Given the description of an element on the screen output the (x, y) to click on. 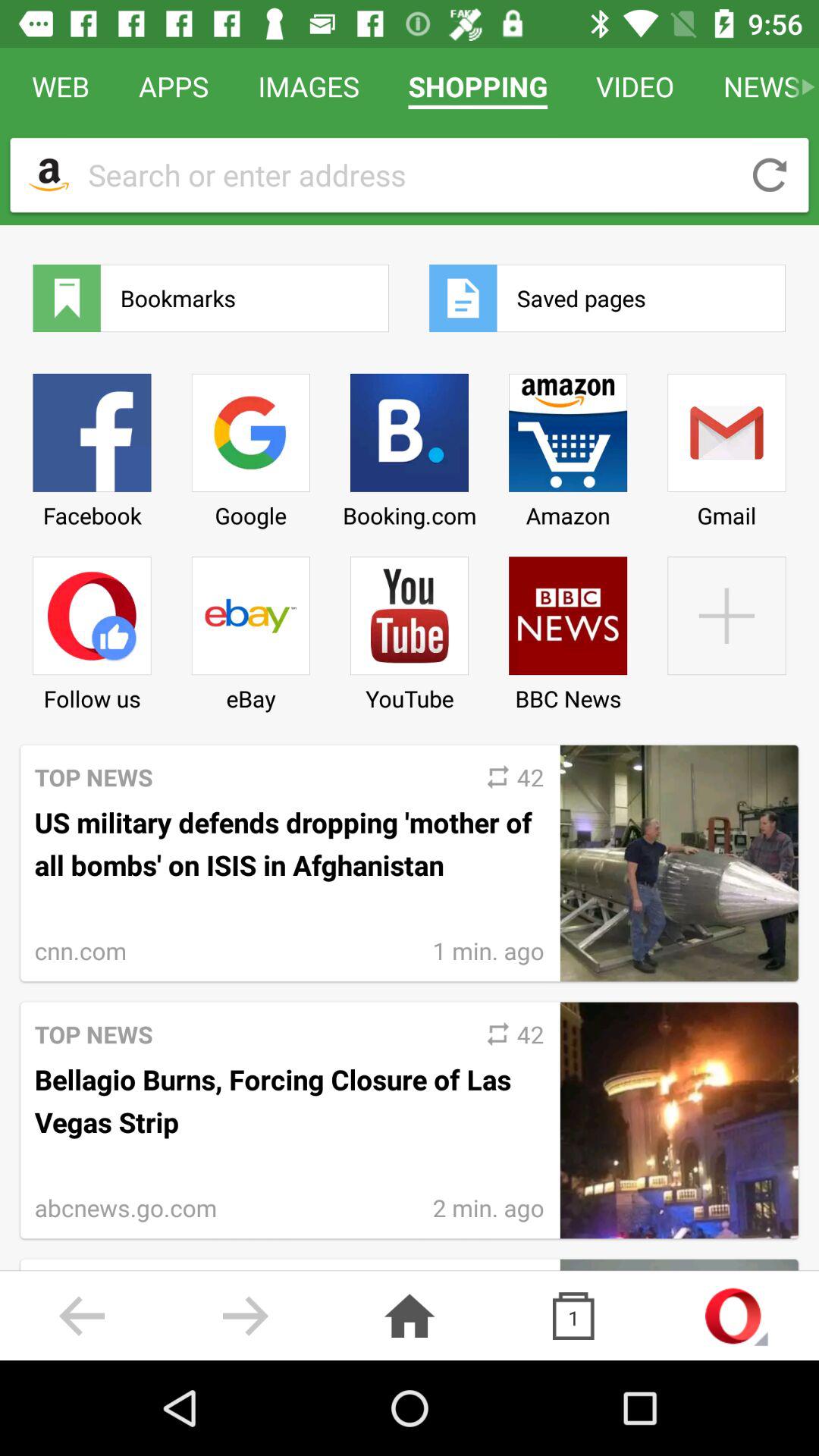
tap the icon below the gmail (726, 628)
